Given the description of an element on the screen output the (x, y) to click on. 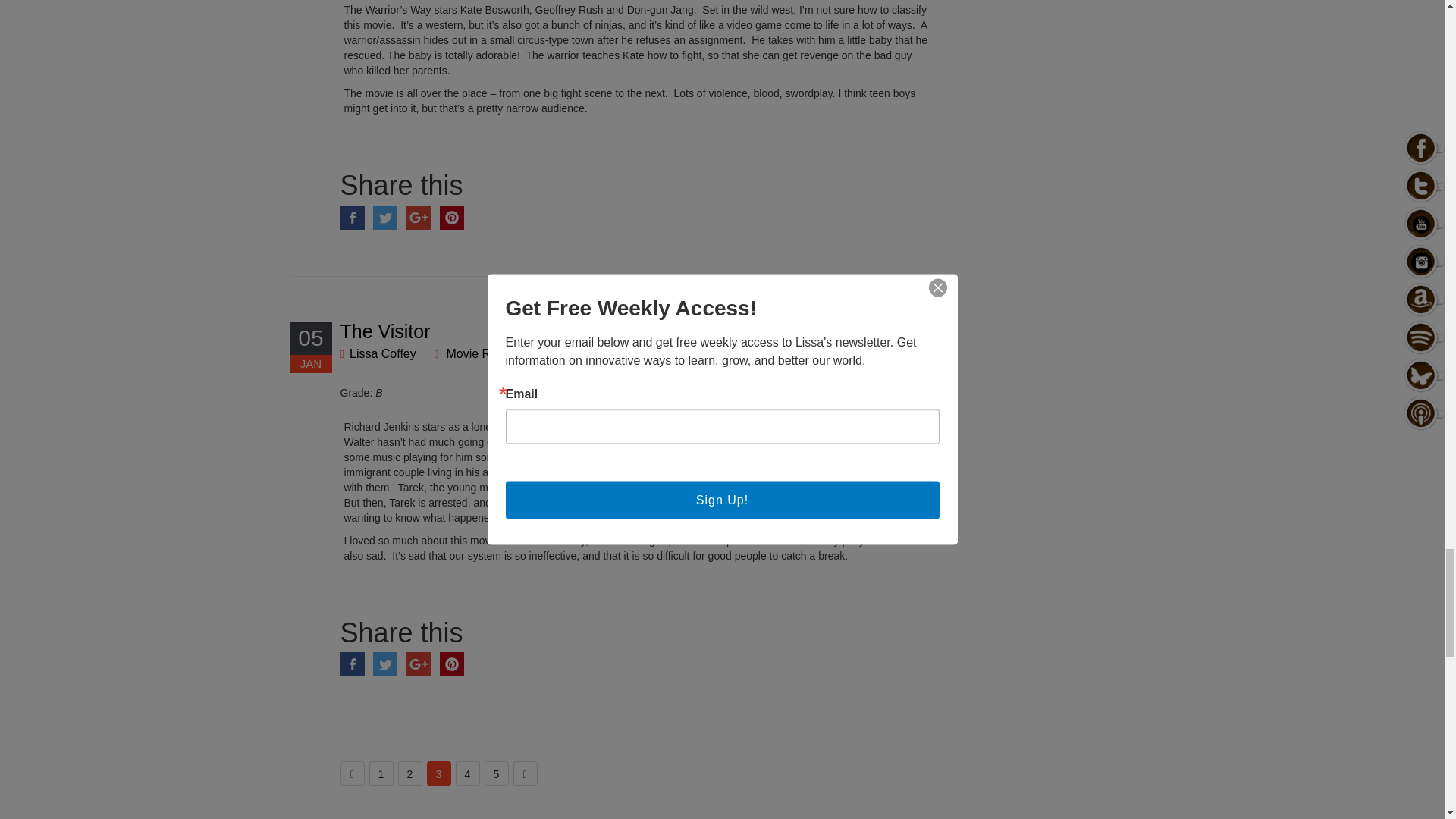
The Visitor (384, 331)
